Given the description of an element on the screen output the (x, y) to click on. 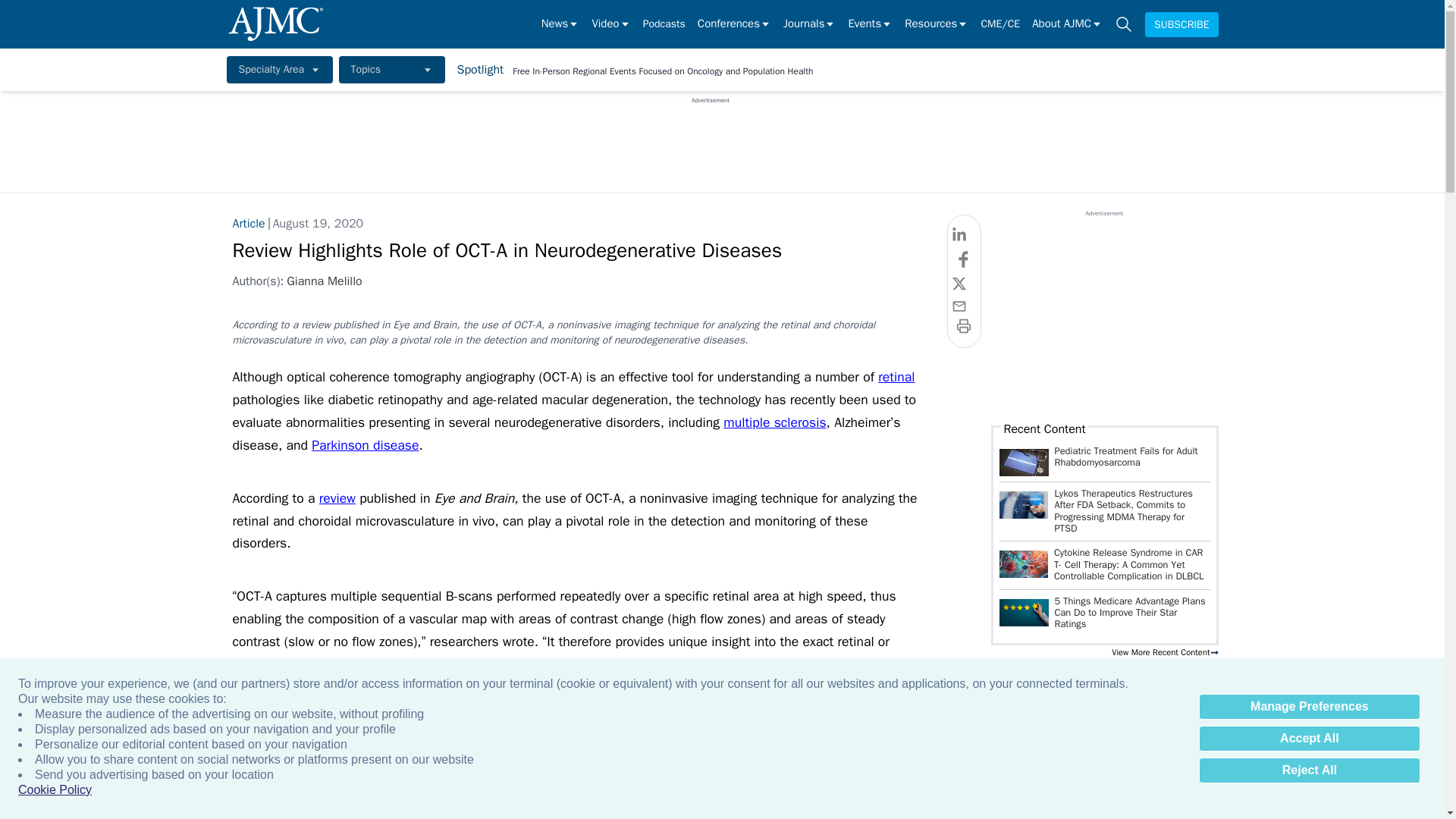
3rd party ad content (709, 138)
Cookie Policy (54, 789)
Reject All (1309, 769)
Journals (809, 24)
Video (610, 24)
Manage Preferences (1309, 706)
Podcasts (664, 24)
Conferences (734, 24)
Events (869, 24)
